Given the description of an element on the screen output the (x, y) to click on. 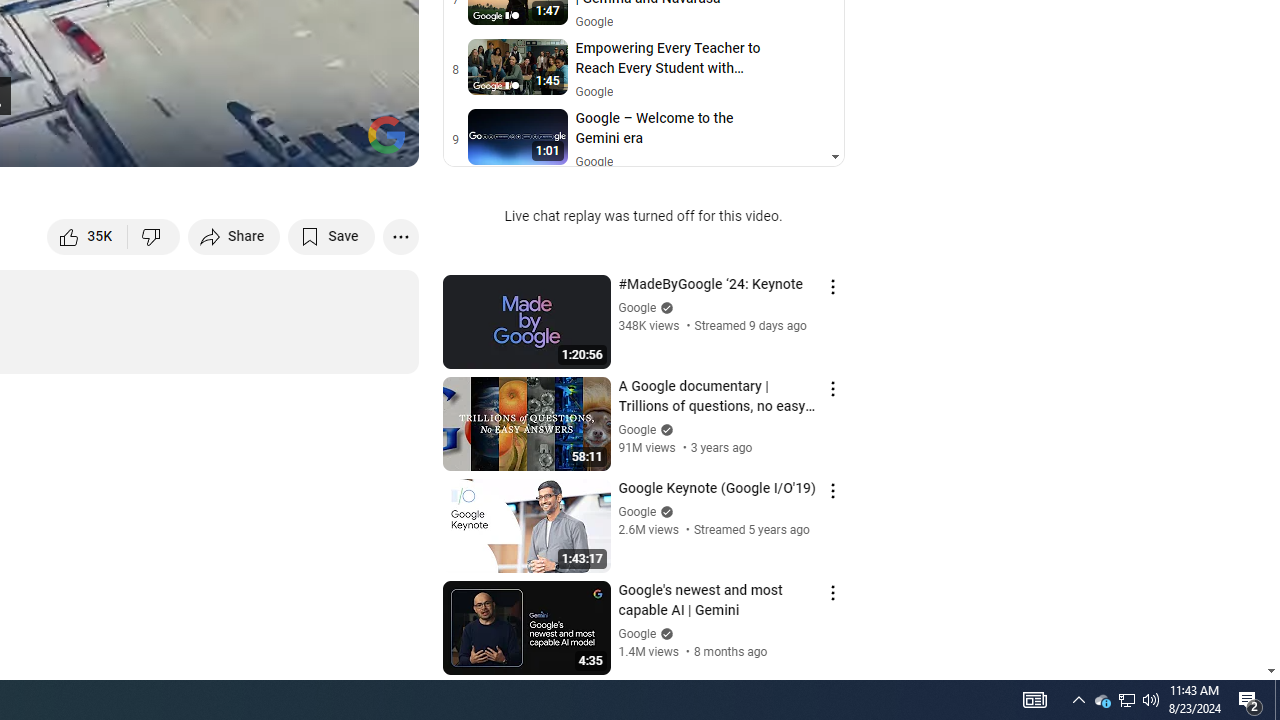
Channel watermark (386, 134)
Channel watermark (386, 134)
Subtitles/closed captions unavailable (190, 142)
More actions (399, 236)
Share (234, 236)
Theater mode (t) (333, 142)
